Given the description of an element on the screen output the (x, y) to click on. 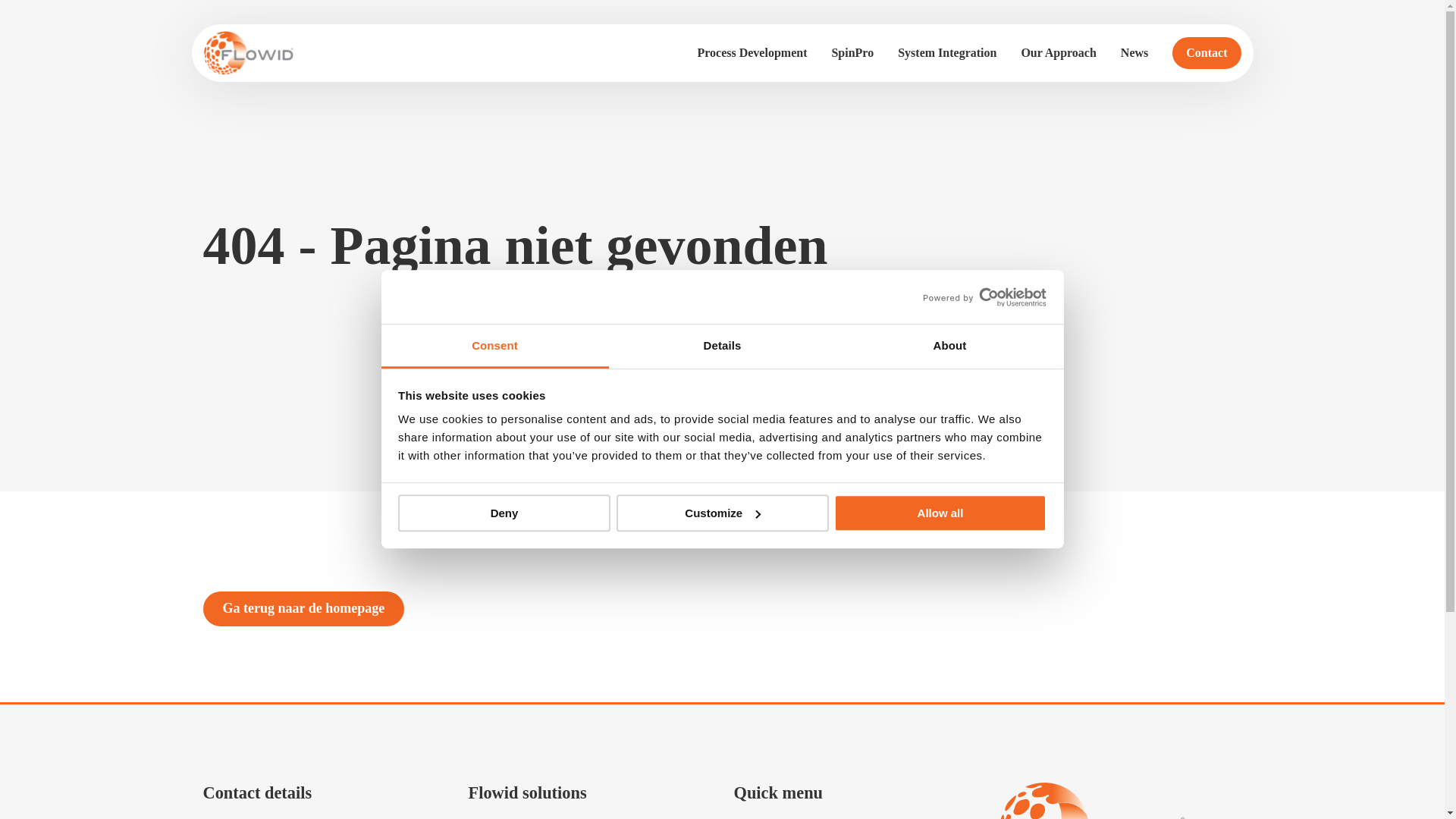
About (948, 346)
Contact (1206, 52)
Our Approach (1058, 53)
Flowid Flow Solutions (279, 53)
Process Development (751, 53)
Deny (503, 512)
Customize (721, 512)
Consent (494, 346)
System Integration (947, 53)
SpinPro (851, 53)
Allow all (940, 512)
Details (721, 346)
News (1134, 53)
